Given the description of an element on the screen output the (x, y) to click on. 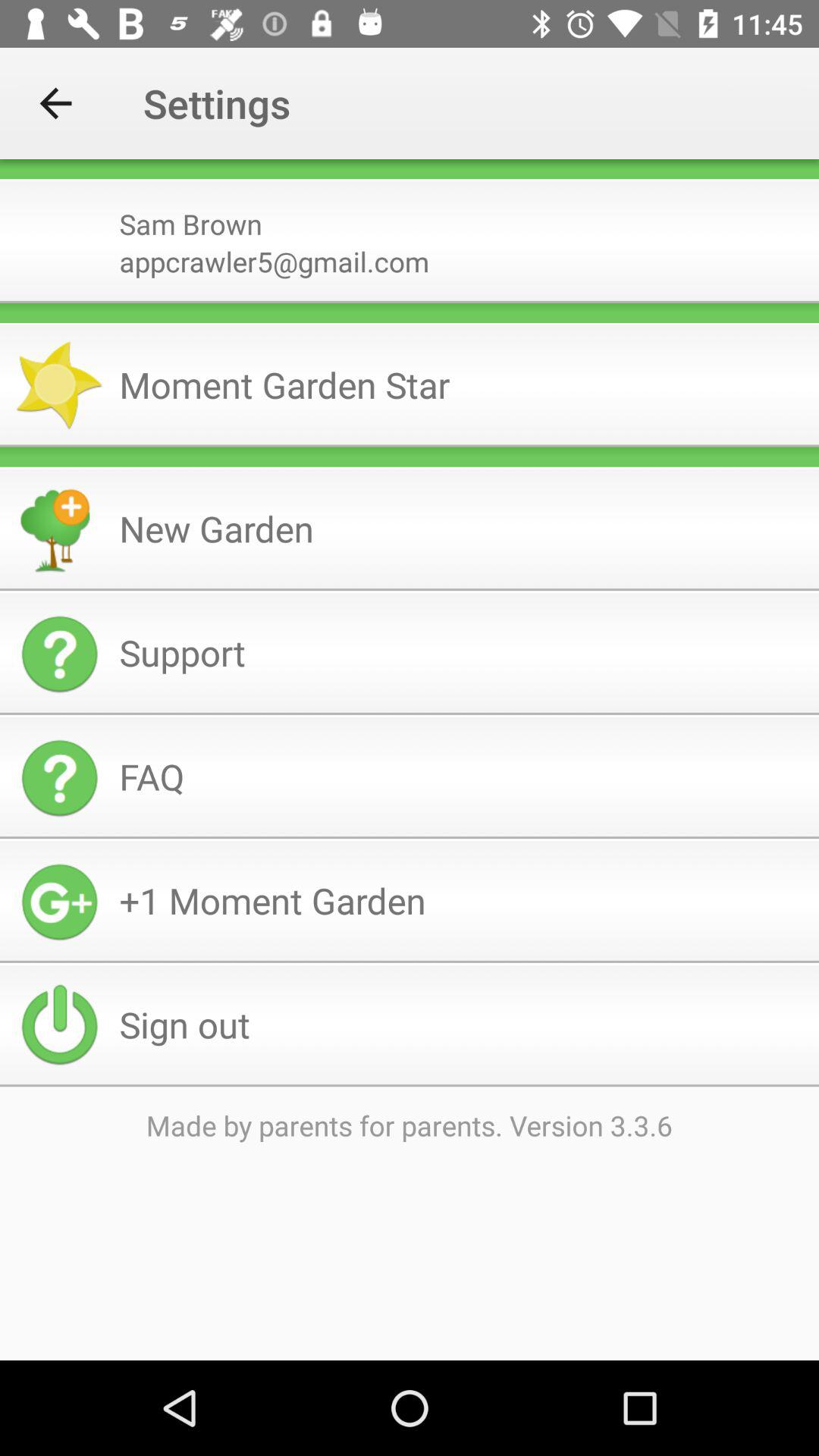
turn off the item next to settings (55, 103)
